Given the description of an element on the screen output the (x, y) to click on. 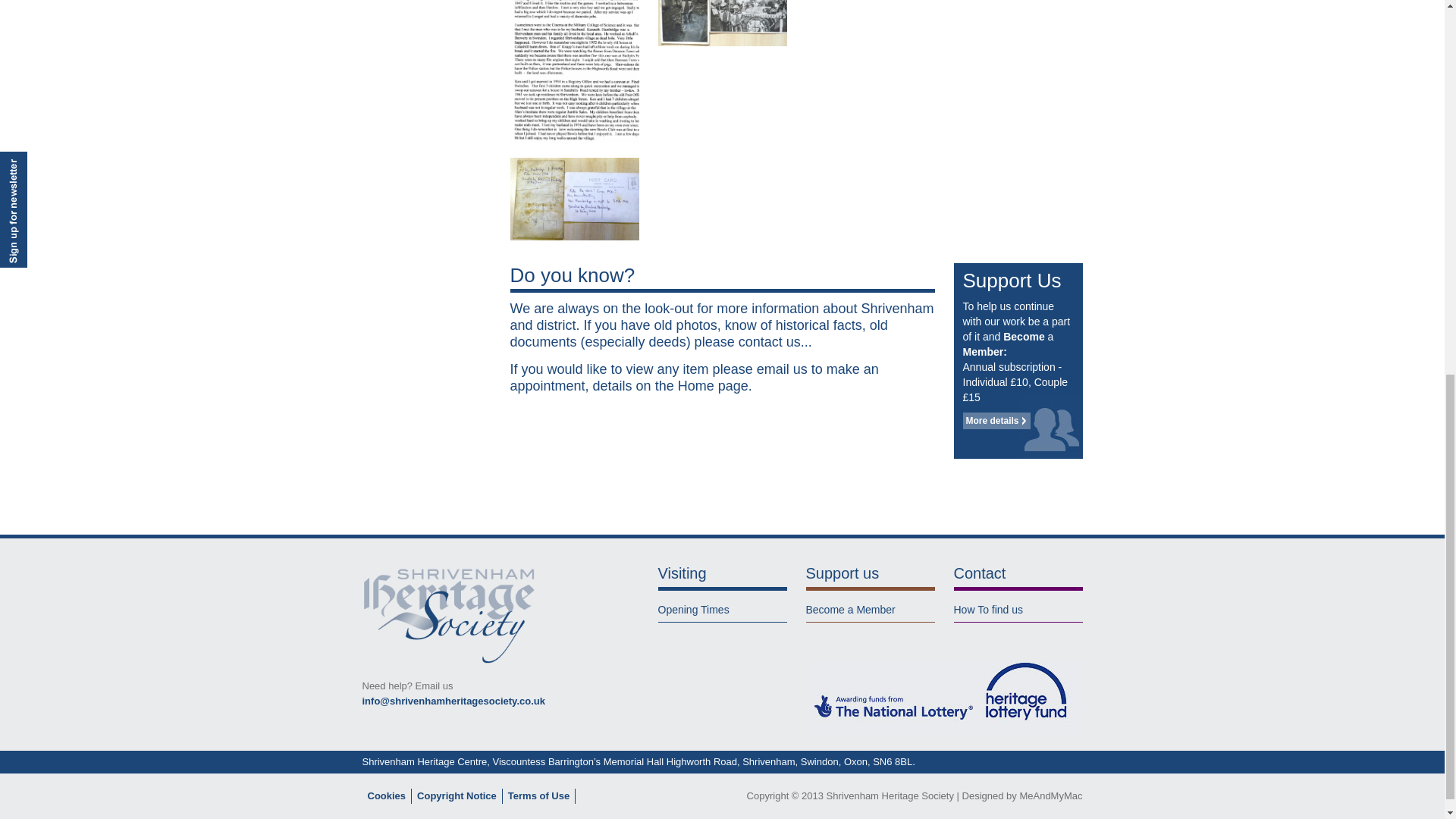
Terms of Use (538, 795)
Opening Times (693, 609)
Cookies (386, 795)
Copyright Notice (456, 795)
page 2 (574, 71)
Copyright Notice (456, 795)
How To find us (988, 609)
Information on the reverse  (574, 199)
More details (996, 420)
Become a Member (850, 609)
Cookies (386, 795)
Terms of Use (538, 795)
